Given the description of an element on the screen output the (x, y) to click on. 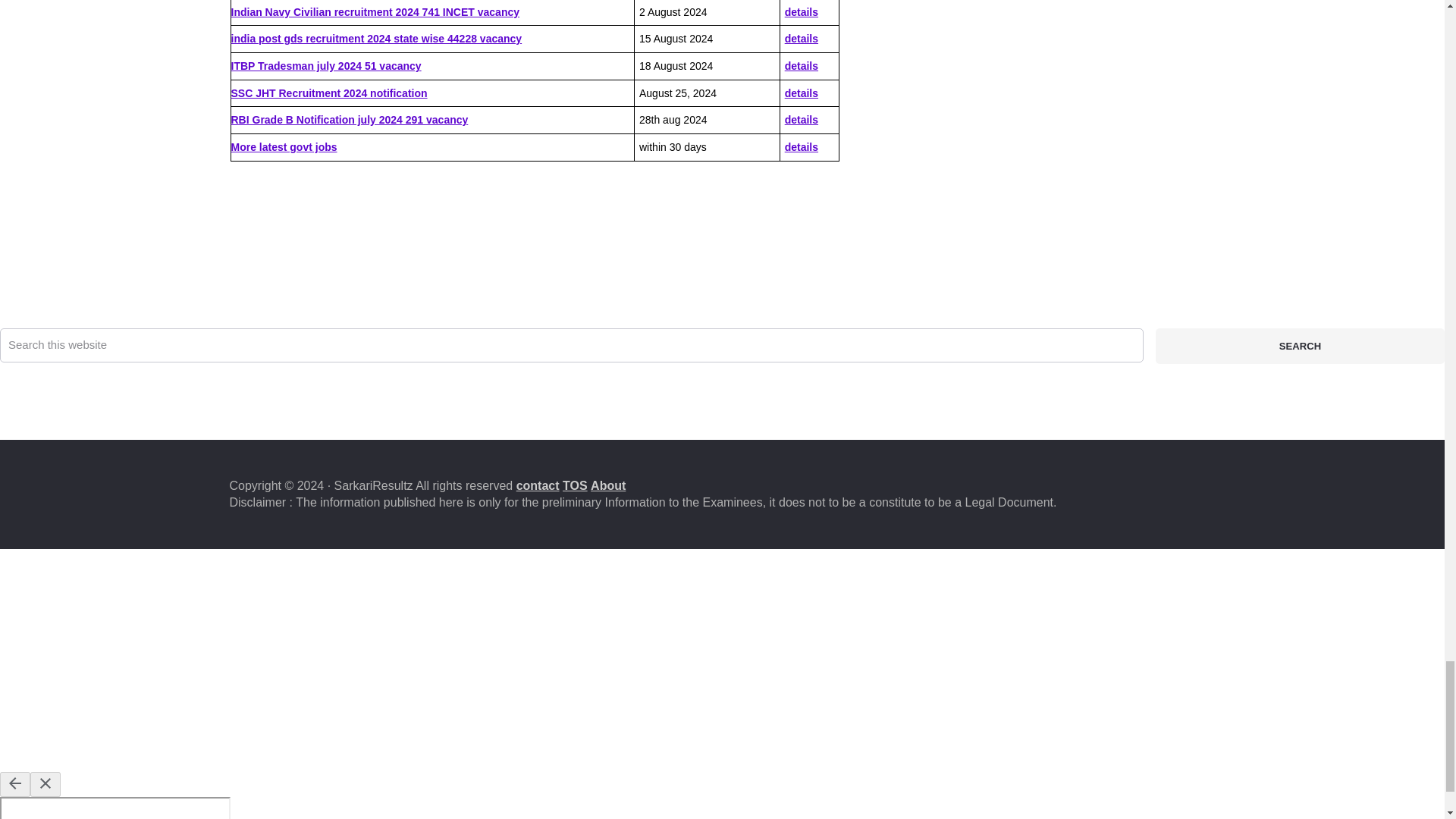
Indian Navy Civilian recruitment 2024 741 INCET vacancy (374, 11)
details (801, 38)
details (801, 11)
india post gds recruitment 2024 state wise 44228 vacancy (375, 38)
ITBP Tradesman july 2024 51 vacancy (325, 65)
